Given the description of an element on the screen output the (x, y) to click on. 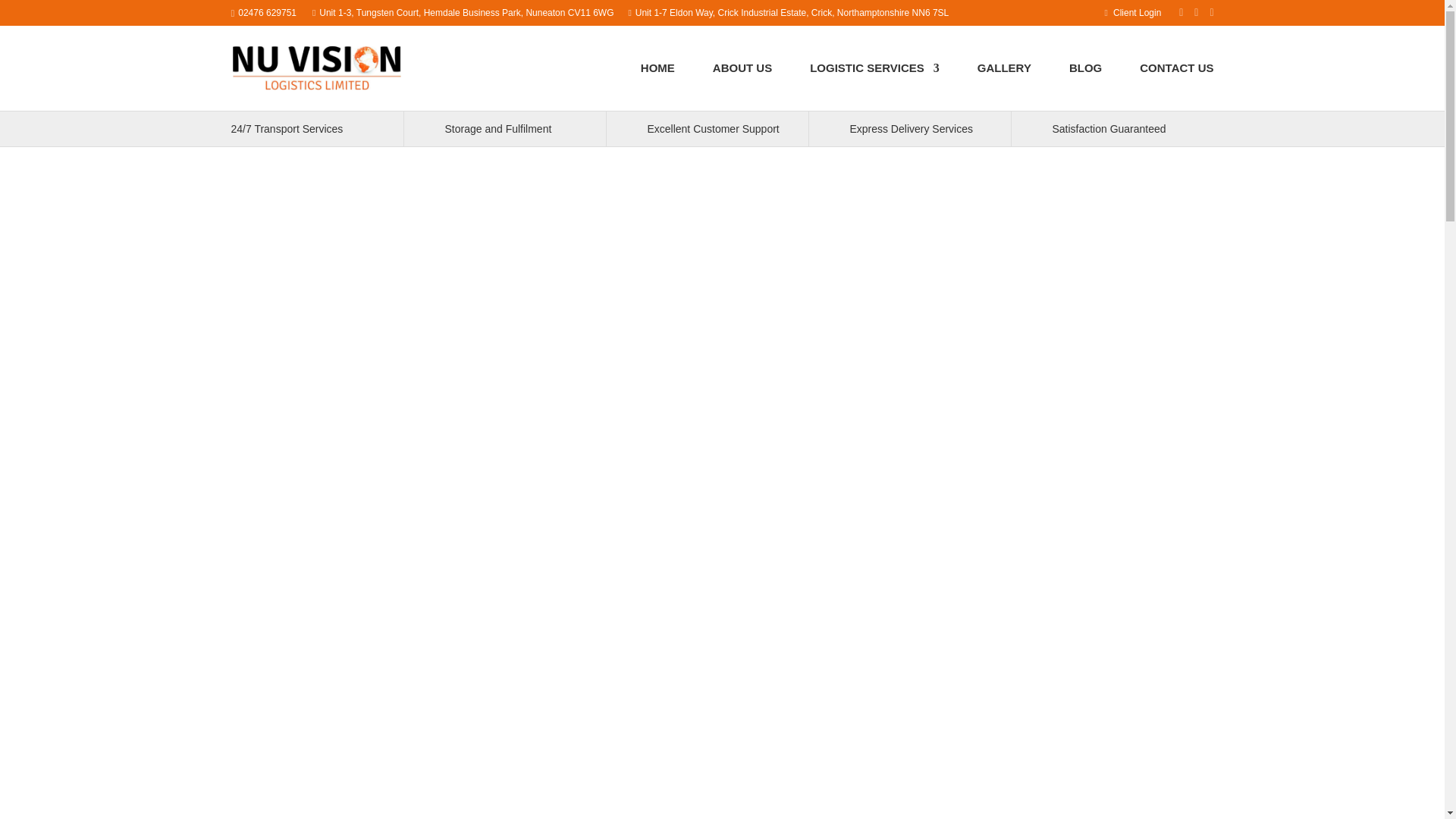
ABOUT US (742, 83)
Client Login (1134, 12)
02476 629751 (267, 12)
CONTACT US (1176, 83)
LOGISTIC SERVICES (874, 83)
GALLERY (1003, 83)
